Given the description of an element on the screen output the (x, y) to click on. 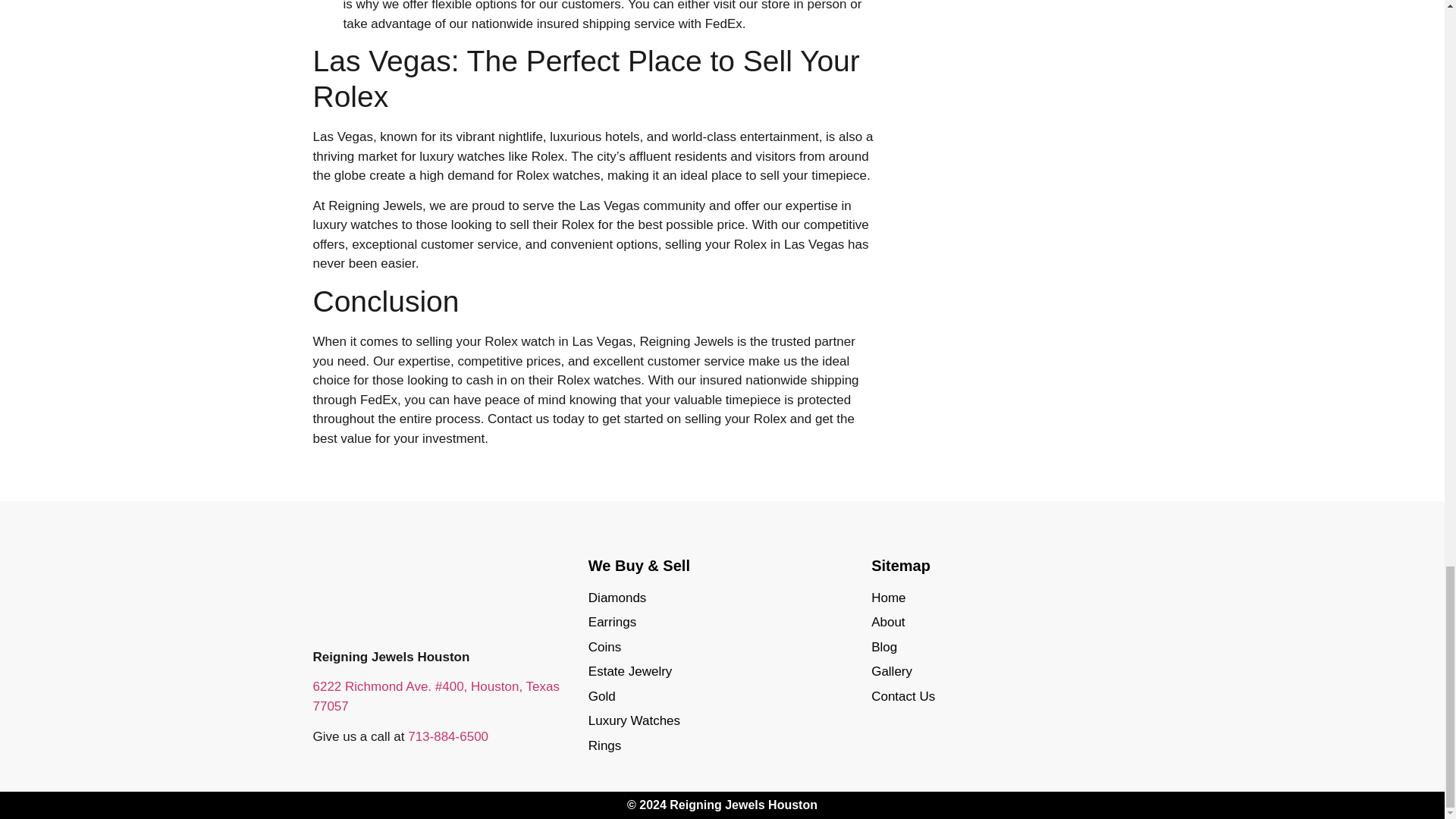
Diamonds (722, 598)
Earrings (722, 622)
713-884-6500 (447, 736)
Estate Jewelry (722, 671)
Coins (722, 646)
